Given the description of an element on the screen output the (x, y) to click on. 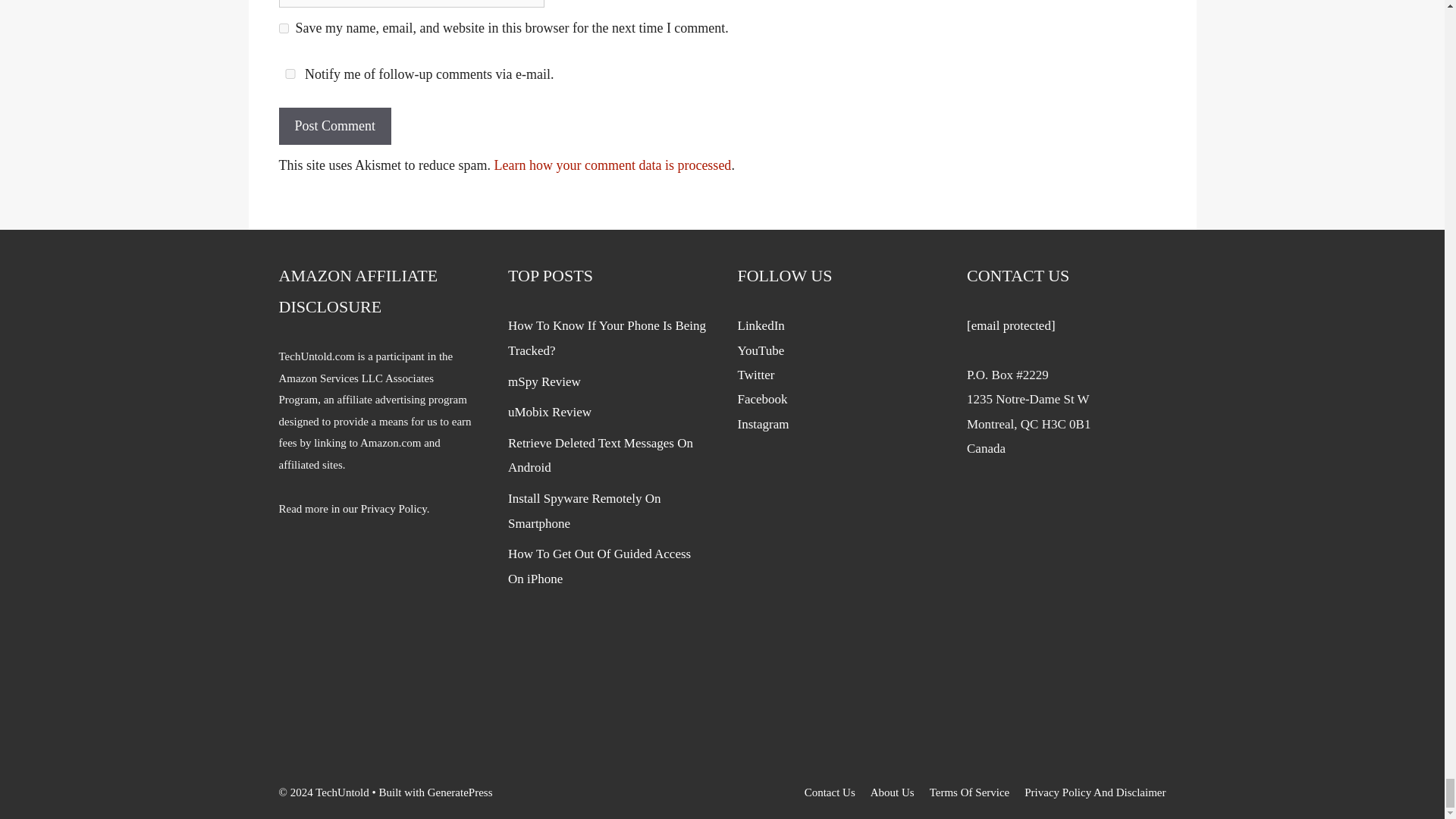
yes (290, 73)
Post Comment (335, 125)
yes (283, 28)
